Given the description of an element on the screen output the (x, y) to click on. 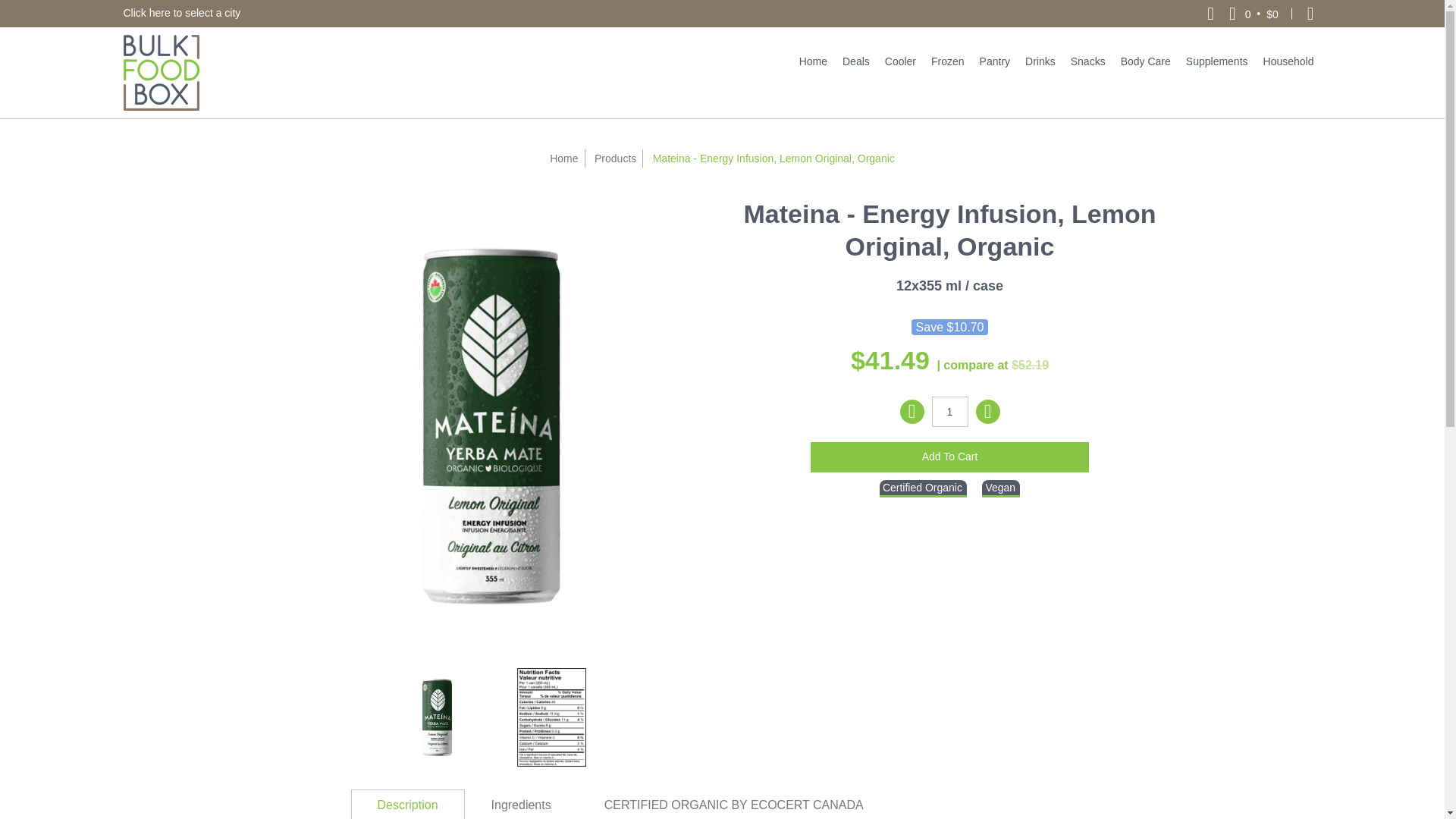
Deals (855, 60)
Click here to select a city (181, 12)
Frozen (947, 60)
Pantry (994, 60)
Cooler (900, 60)
Deals (855, 60)
Log in (1310, 13)
Home (813, 60)
1 (949, 411)
Cart (1253, 13)
